Given the description of an element on the screen output the (x, y) to click on. 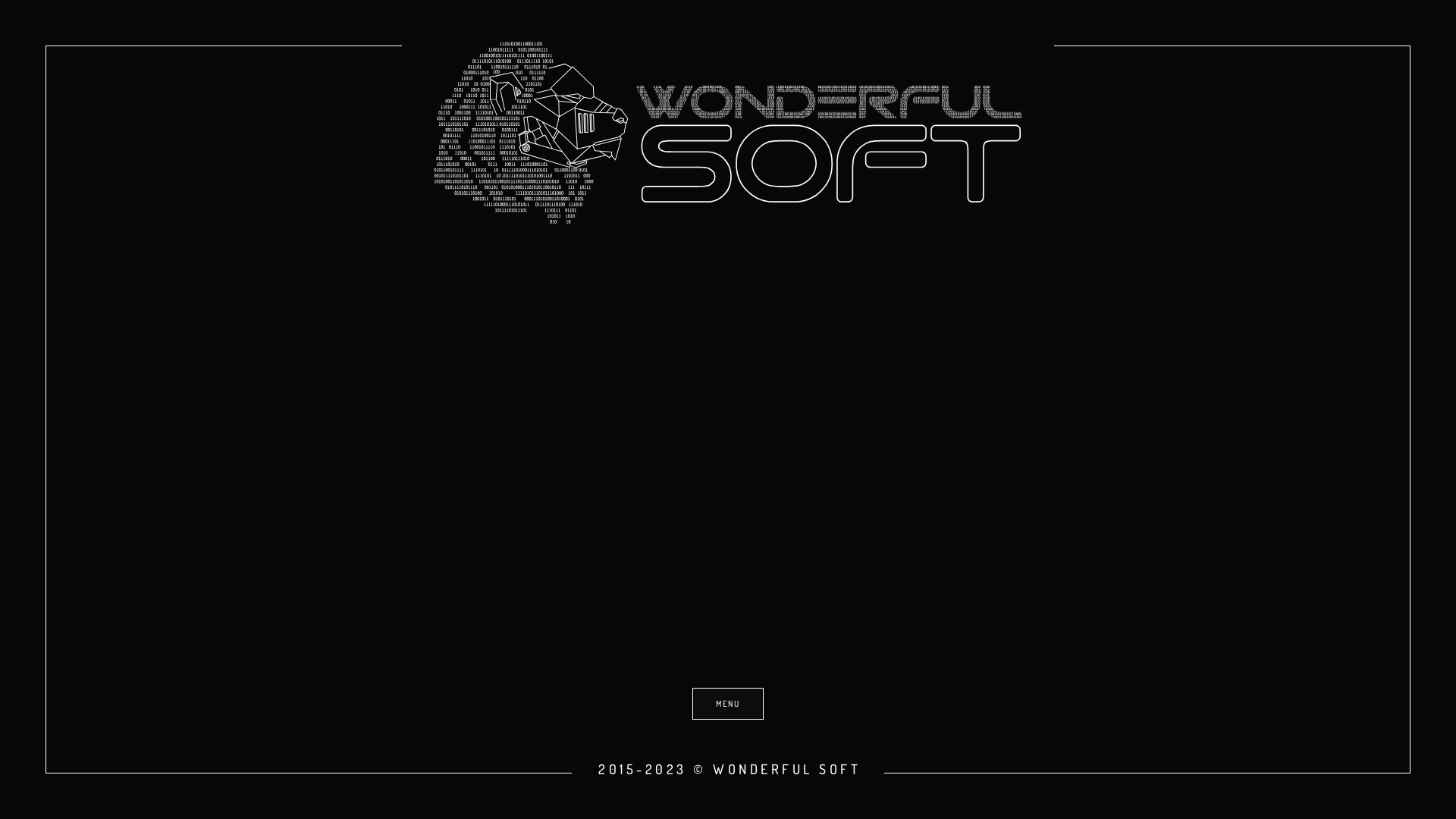
MENU Element type: text (727, 703)
